Given the description of an element on the screen output the (x, y) to click on. 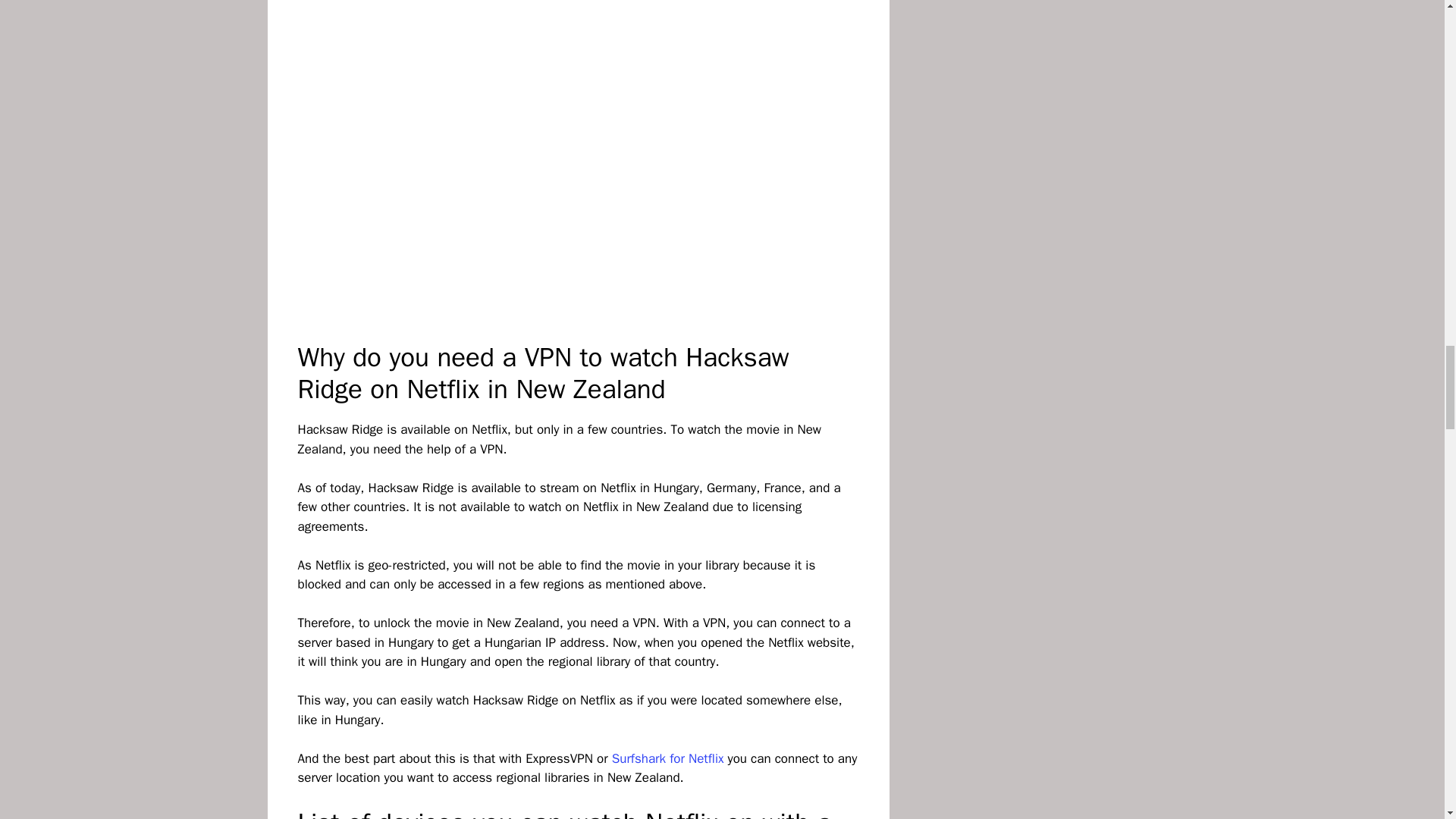
Surfshark for Netflix (667, 758)
